Given the description of an element on the screen output the (x, y) to click on. 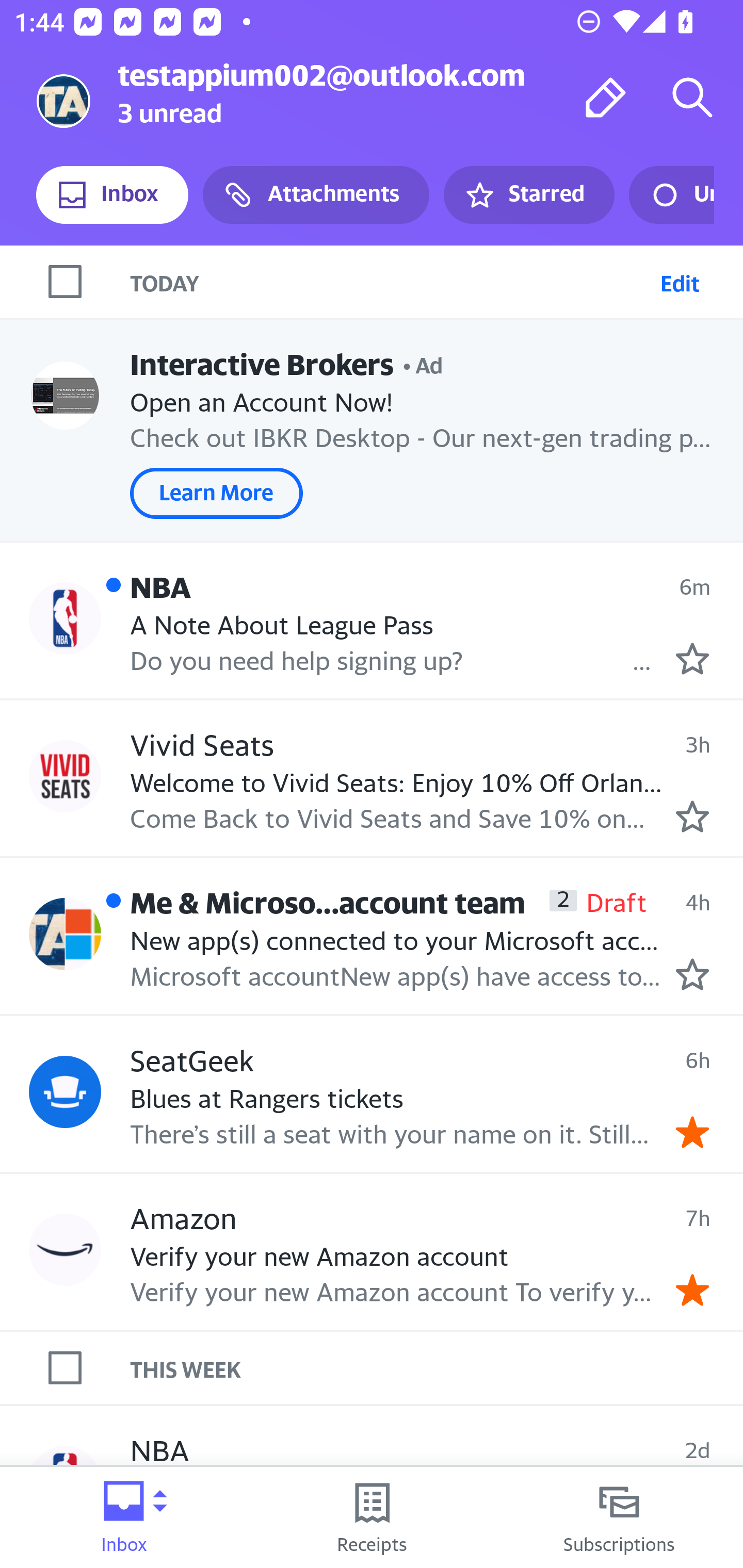
Compose (605, 97)
Search mail (692, 97)
Attachments (315, 195)
Starred (528, 195)
TODAY (391, 281)
Edit Select emails (679, 281)
Profile
NBA (64, 617)
Mark as starred. (692, 659)
Profile
Vivid Seats (64, 776)
Mark as starred. (692, 816)
Profile
Me & Microsoft account team (64, 934)
Mark as starred. (692, 974)
Profile
SeatGeek (64, 1091)
Remove star. (692, 1132)
Profile
Amazon (64, 1249)
Remove star. (692, 1289)
THIS WEEK (436, 1367)
Inbox Folder picker (123, 1517)
Receipts (371, 1517)
Subscriptions (619, 1517)
